Given the description of an element on the screen output the (x, y) to click on. 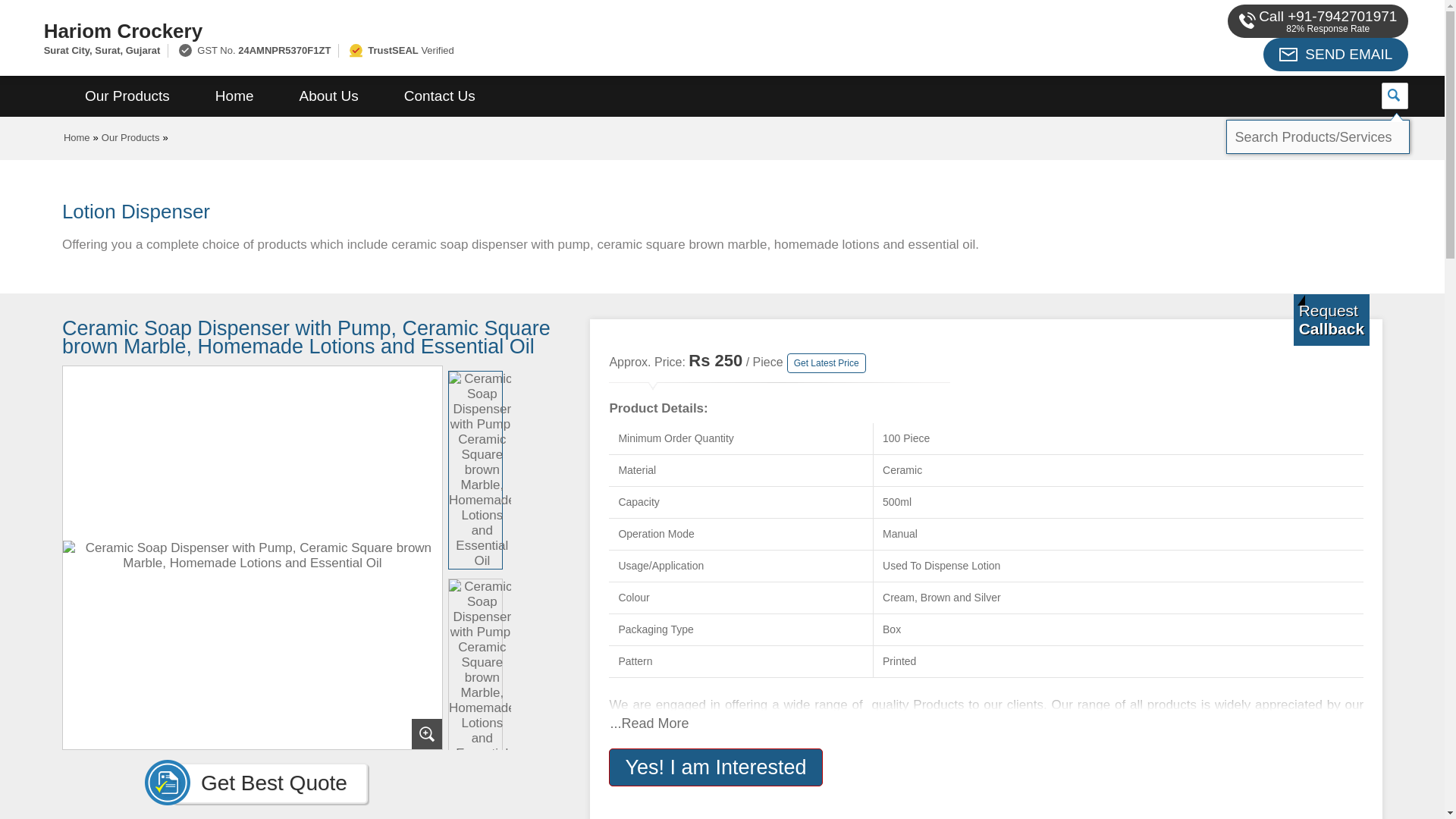
Hariom Crockery (480, 31)
Home (234, 96)
About Us (328, 96)
Home (77, 137)
Contact Us (439, 96)
Our Products (130, 137)
Get a Call from us (1332, 319)
Our Products (127, 96)
